Given the description of an element on the screen output the (x, y) to click on. 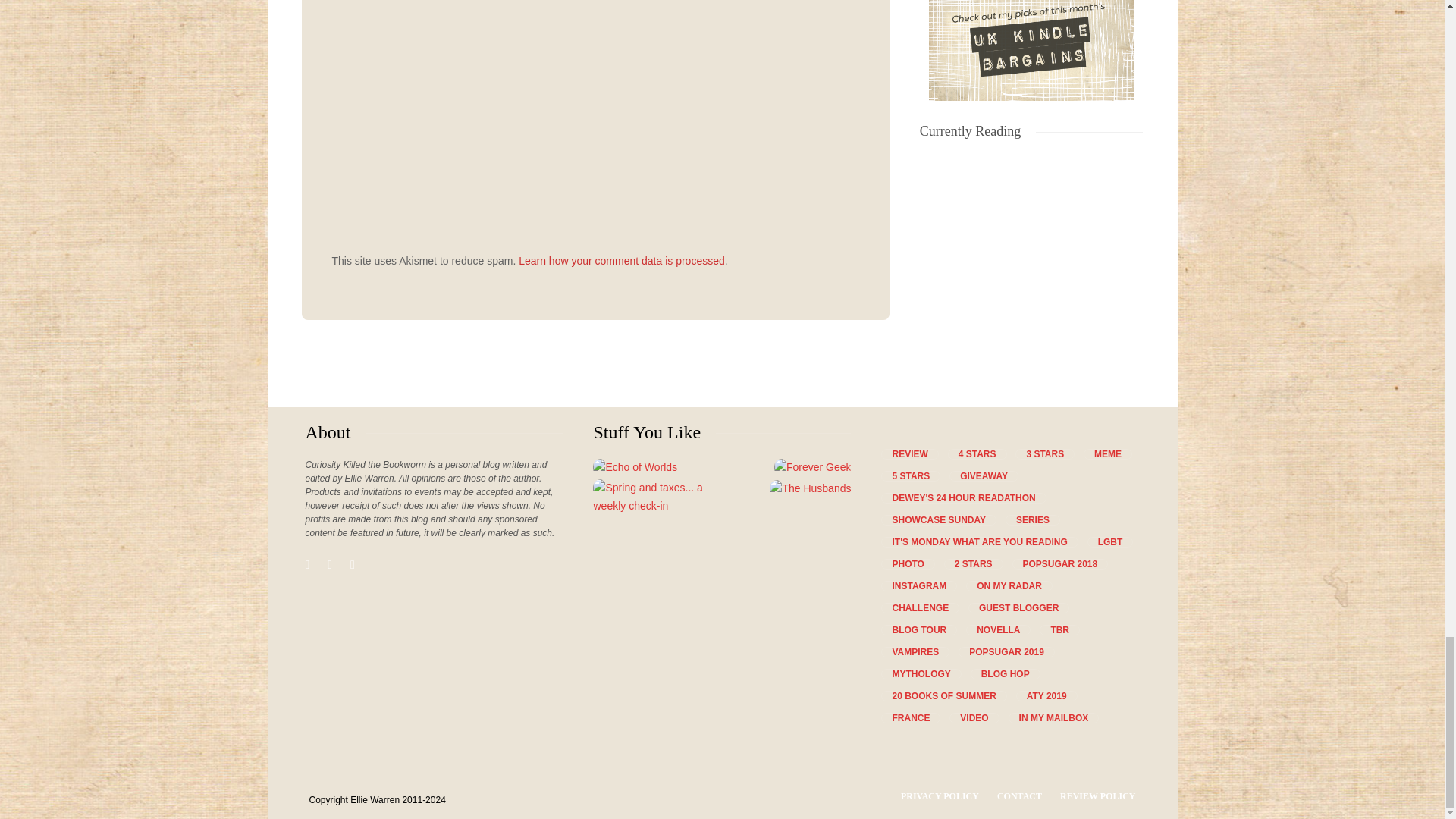
Forever Geek (812, 466)
Comment Form (595, 125)
Spring and taxes... a weekly check-in (656, 497)
The Husbands (810, 488)
Echo of Worlds (634, 466)
